Given the description of an element on the screen output the (x, y) to click on. 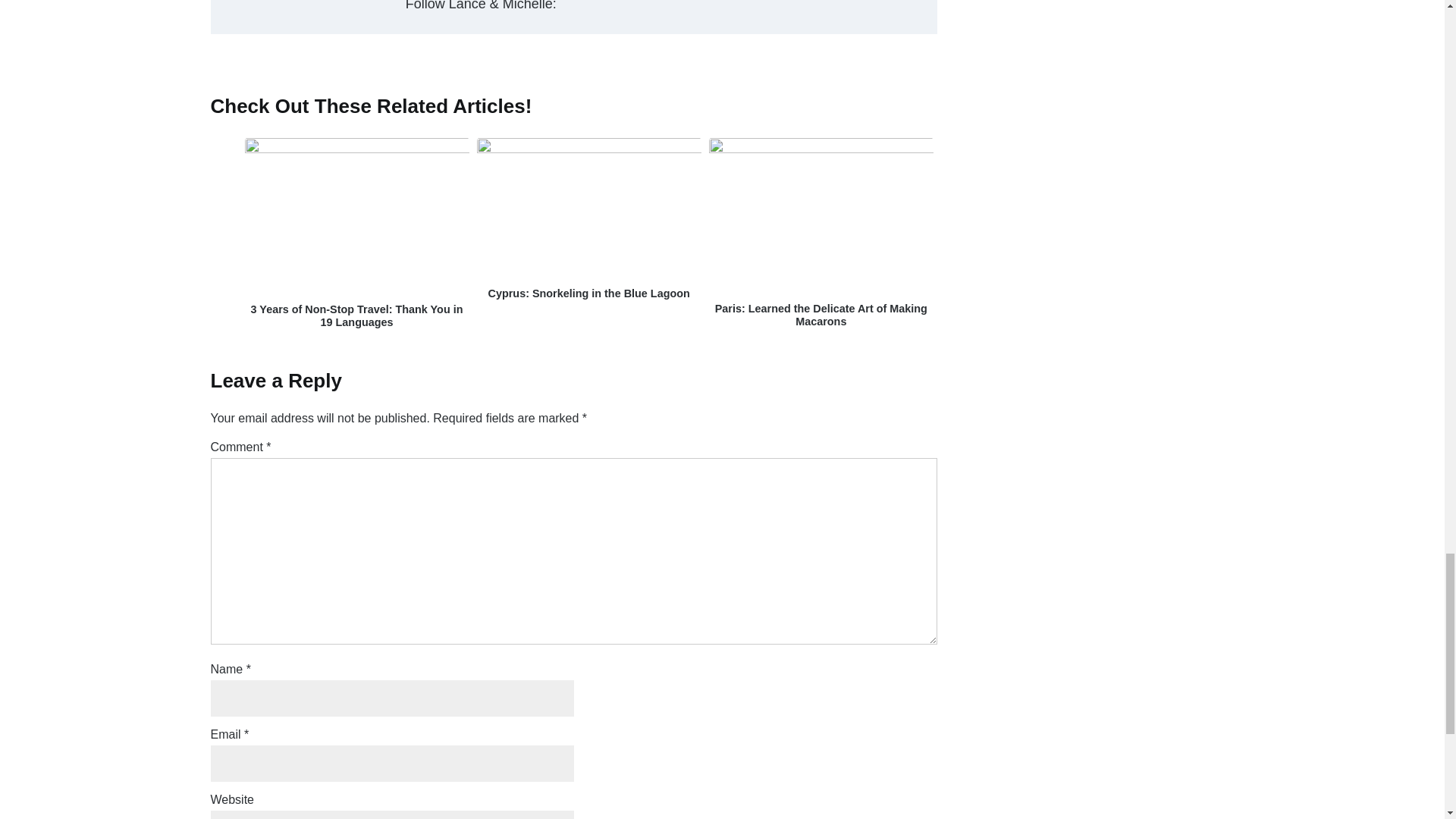
3 Years of Non-Stop Travel: Thank You in 19 Languages (356, 148)
Paris: Learned the Delicate Art of Making Macarons (820, 314)
Cyprus: Snorkeling in the Blue Lagoon (588, 293)
Cyprus: Snorkeling in the Blue Lagoon (588, 293)
Paris: Learned the Delicate Art of Making Macarons (821, 148)
3 Years of Non-Stop Travel: Thank You in 19 Languages (356, 315)
Paris: Learned the Delicate Art of Making Macarons (820, 314)
3 Years of Non-Stop Travel: Thank You in 19 Languages (356, 315)
Cyprus: Snorkeling in the Blue Lagoon (589, 148)
